Given the description of an element on the screen output the (x, y) to click on. 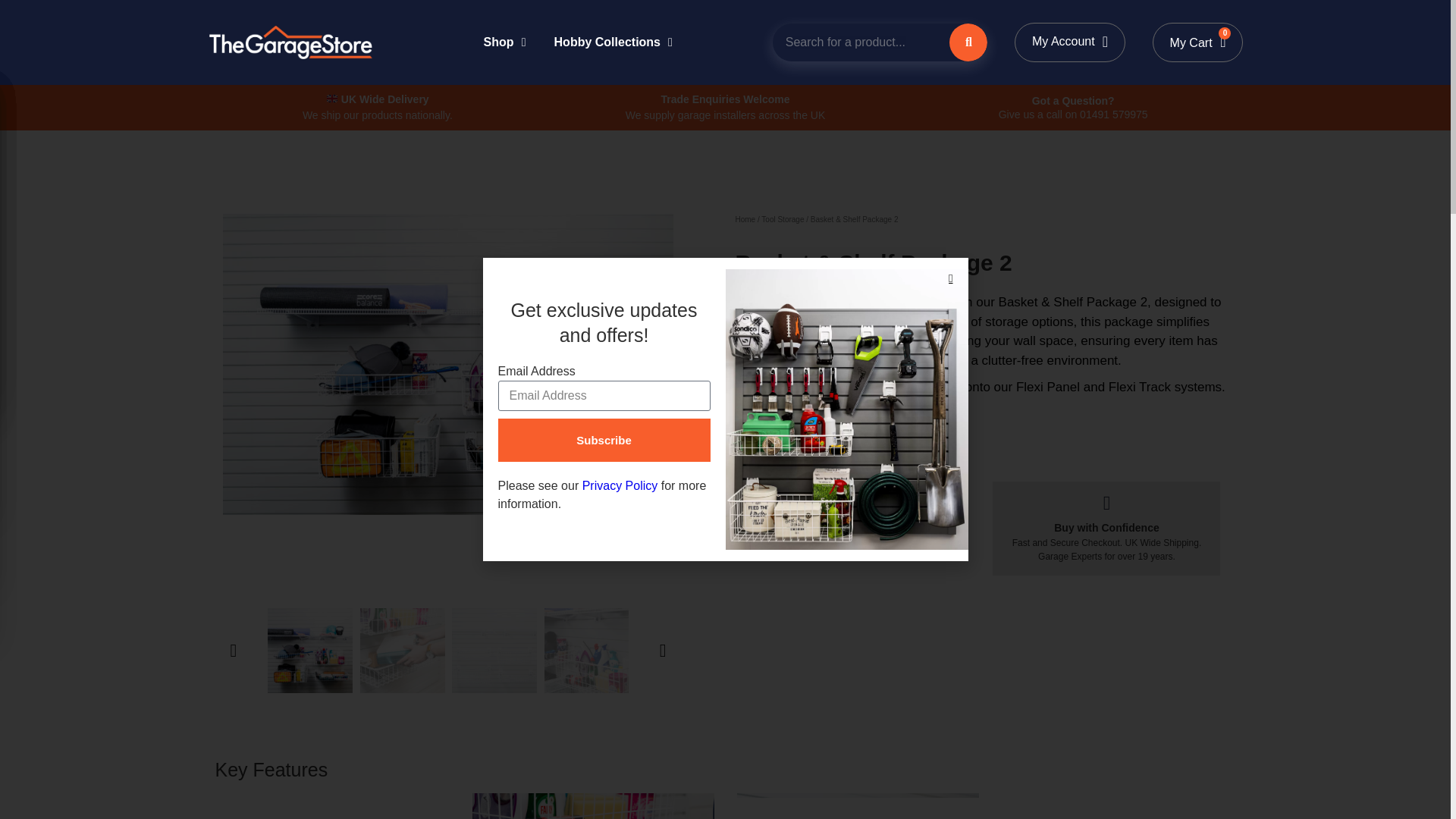
1 (765, 500)
